Given the description of an element on the screen output the (x, y) to click on. 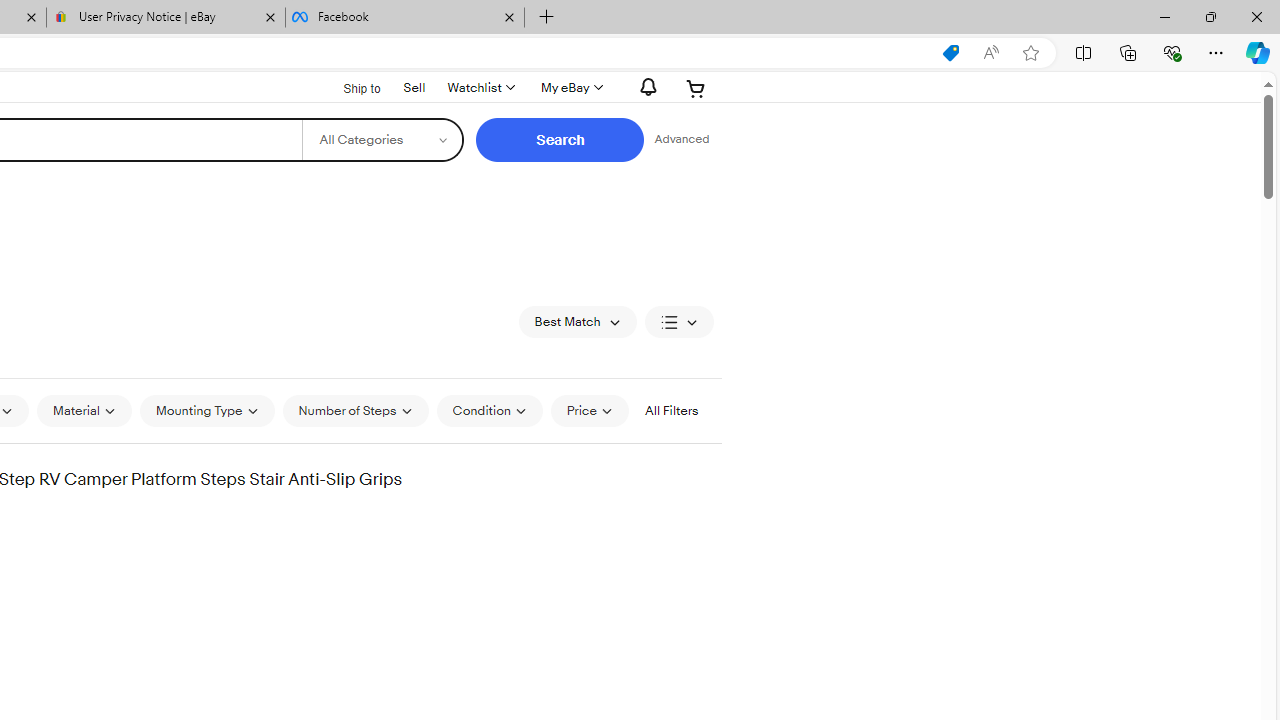
WatchlistExpand Watch List (479, 88)
All Filters (671, 410)
Mounting Type (207, 410)
Material (84, 410)
Select a category for search (382, 139)
This site has coupons! Shopping in Microsoft Edge (950, 53)
Price (589, 410)
Expand Cart (696, 88)
Mounting Type (207, 410)
AutomationID: gh-eb-Alerts (645, 87)
Ship to (349, 89)
